Given the description of an element on the screen output the (x, y) to click on. 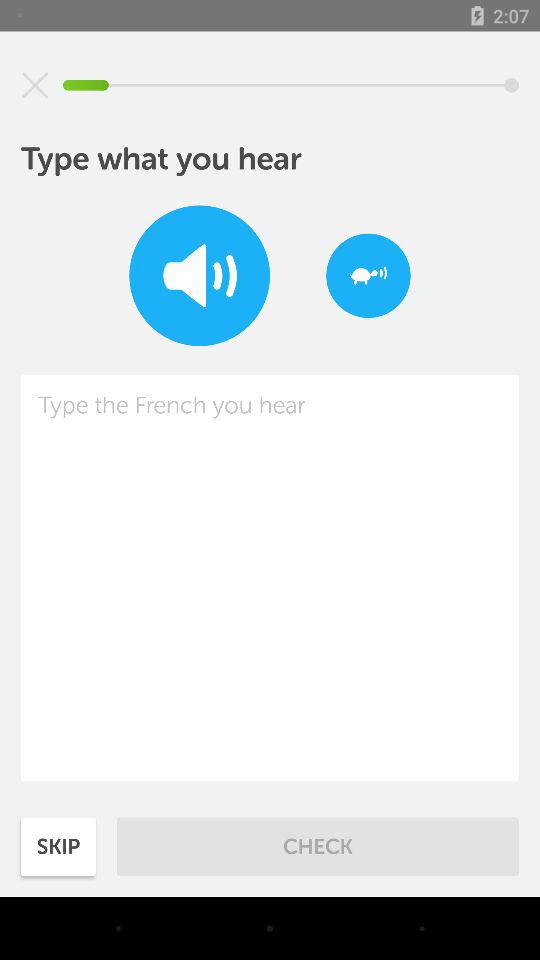
turn on item at the top right corner (368, 275)
